Given the description of an element on the screen output the (x, y) to click on. 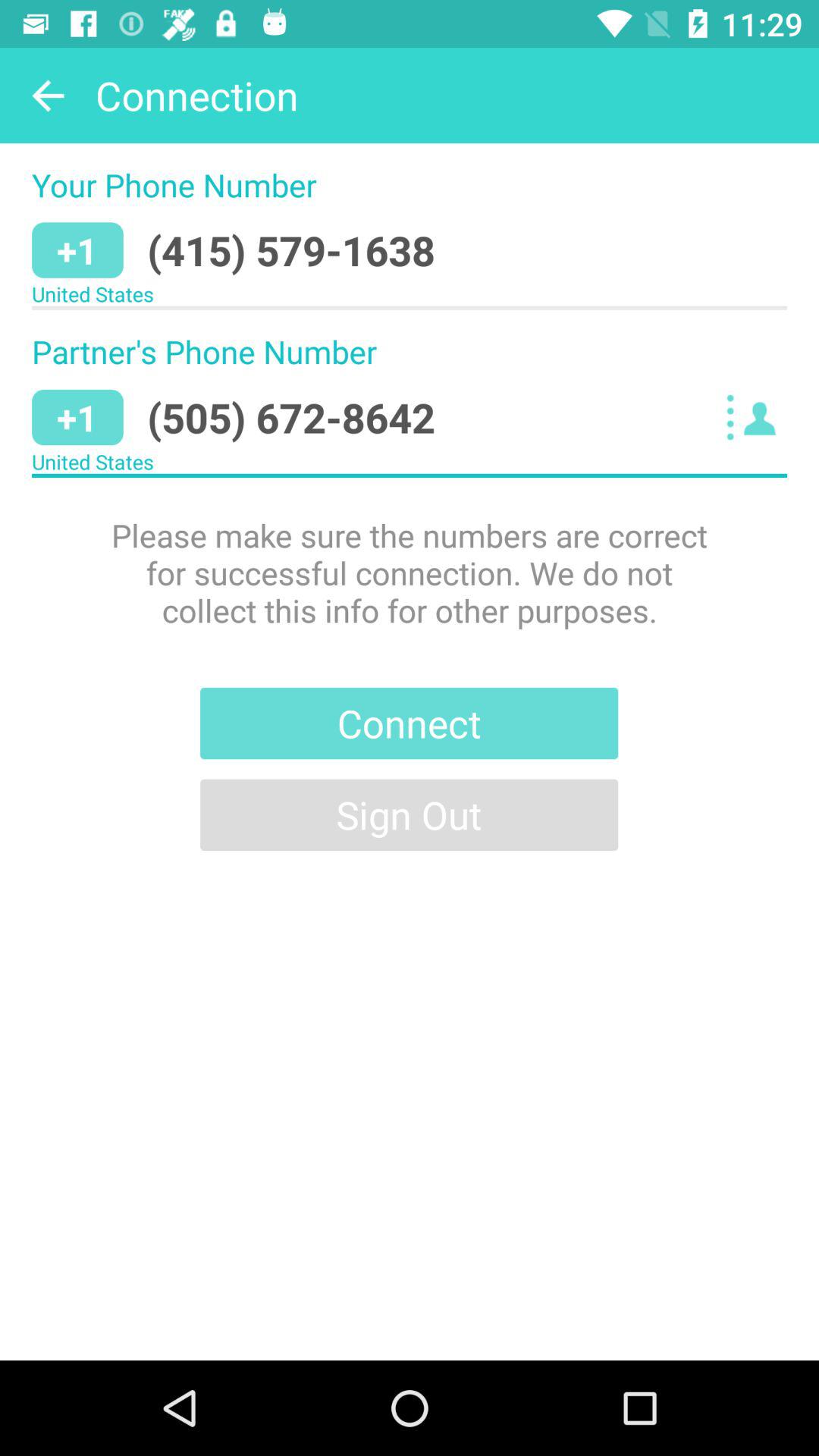
launch the icon to the right of +1 (291, 250)
